Given the description of an element on the screen output the (x, y) to click on. 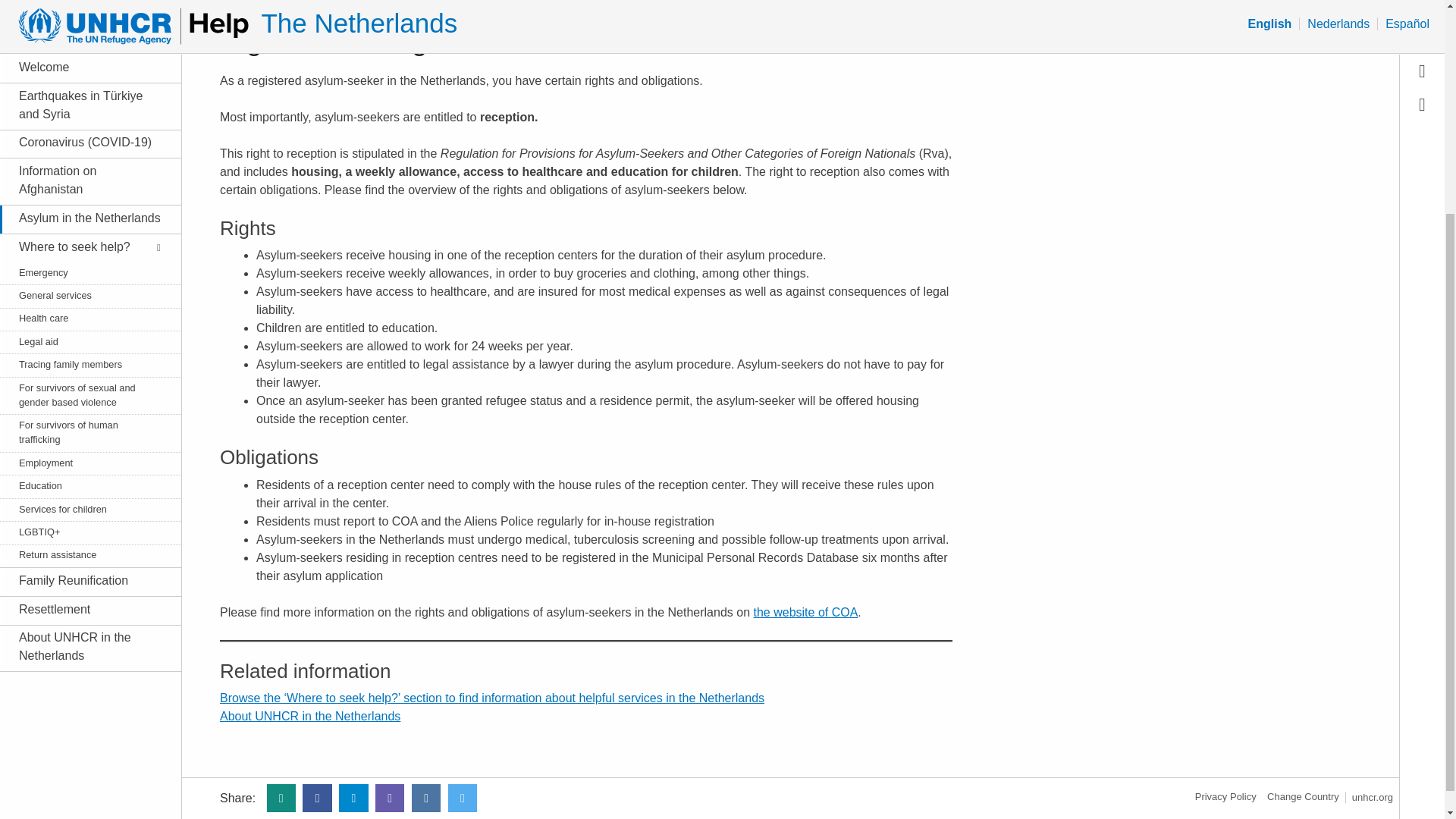
Tracing family members (81, 74)
Education (81, 196)
Resettlement (81, 321)
For survivors of sexual and gender based violence (81, 105)
Employment (81, 173)
the website of COA (806, 612)
Services for children (81, 219)
Legal aid (81, 52)
UNHCR - the UN Refugee Agency (1372, 797)
General services (81, 6)
help.unhcr.org (1302, 796)
For survivors of human trafficking (81, 143)
About UNHCR in the Netherlands (309, 716)
Return assistance (81, 265)
About UNHCR in the Netherlands (81, 357)
